Given the description of an element on the screen output the (x, y) to click on. 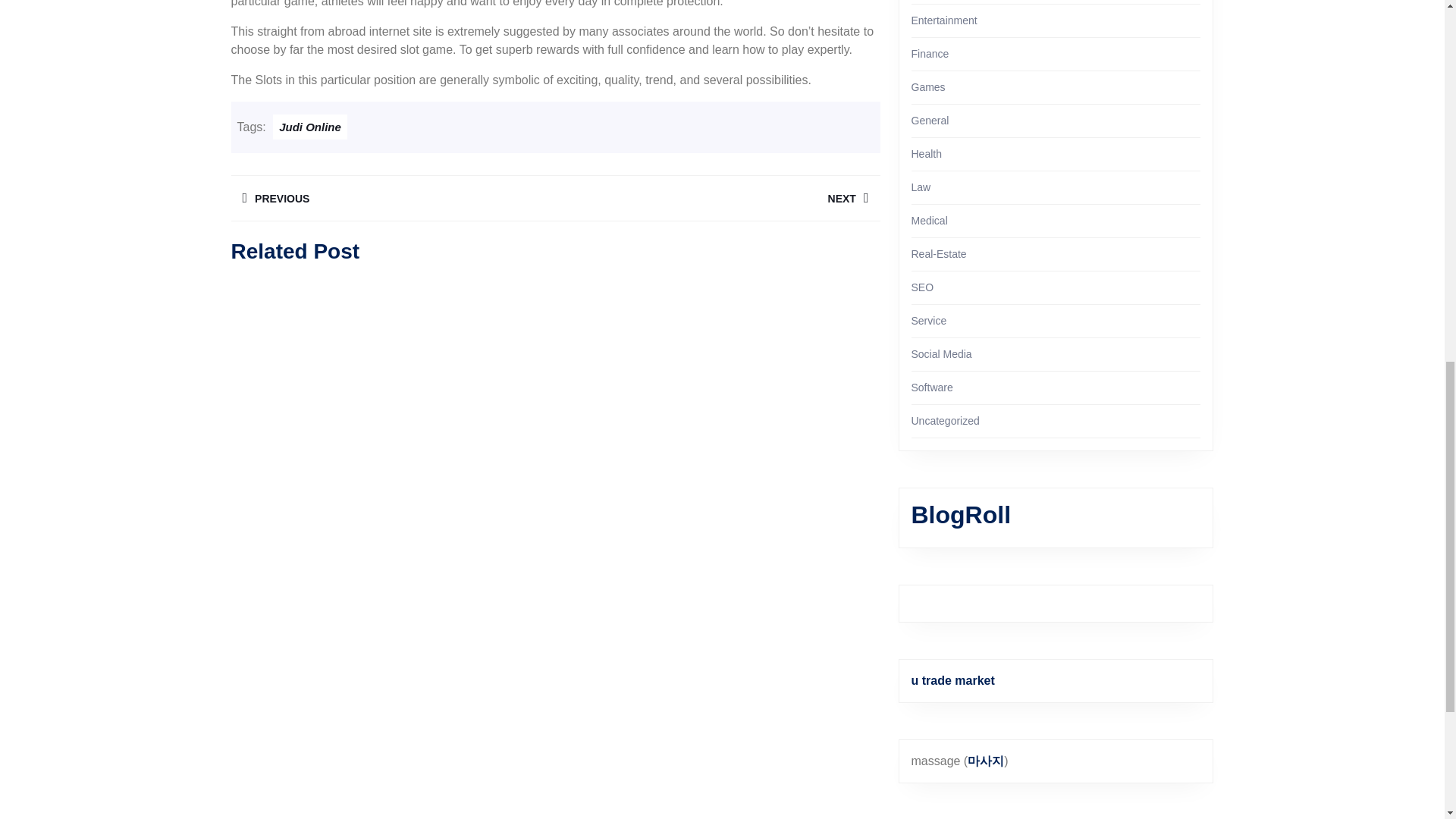
Health (926, 153)
Finance (392, 198)
Law (930, 53)
Judi Online (921, 186)
Entertainment (310, 126)
General (716, 198)
Games (943, 20)
